Given the description of an element on the screen output the (x, y) to click on. 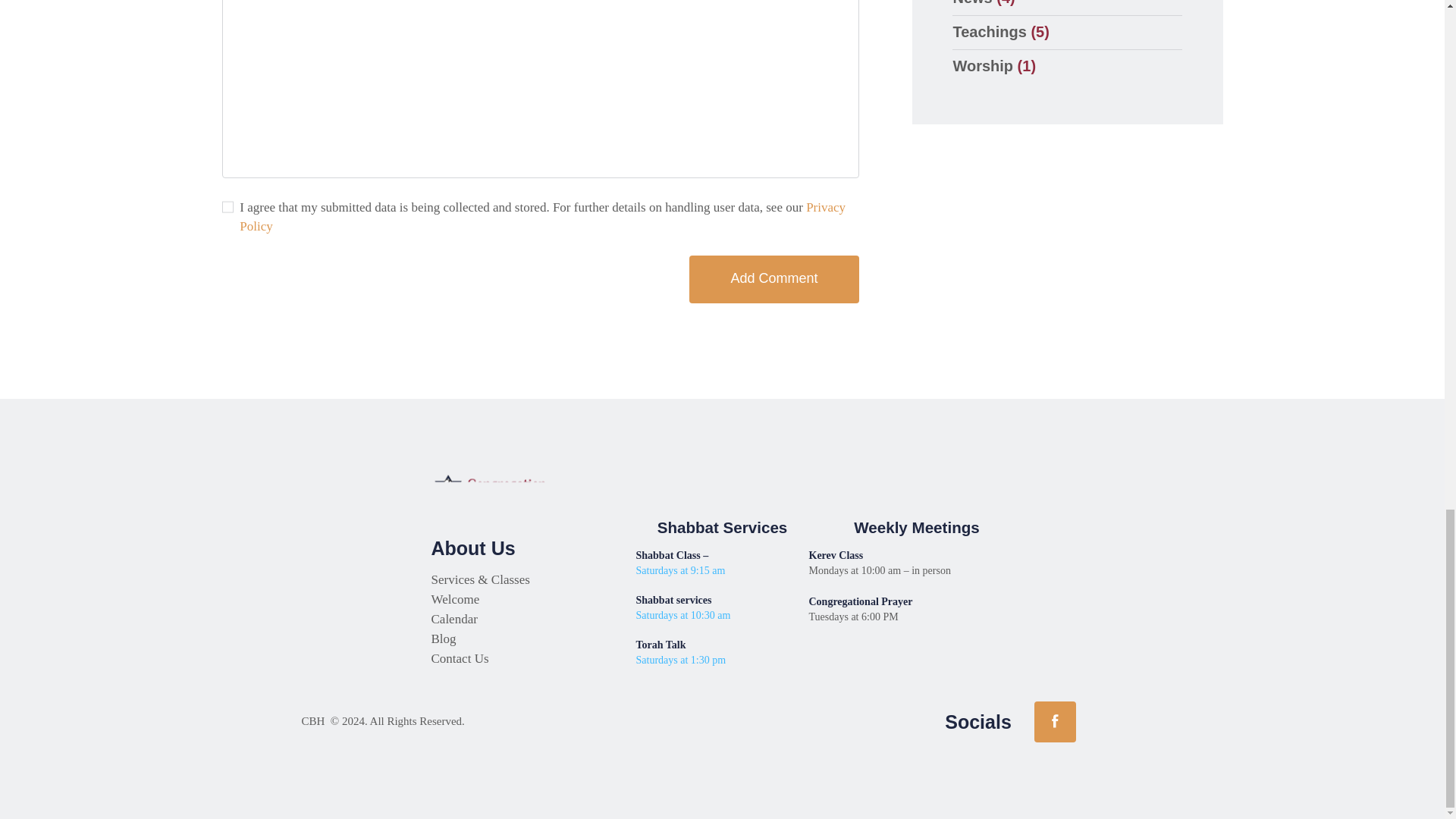
Add Comment (773, 279)
